Given the description of an element on the screen output the (x, y) to click on. 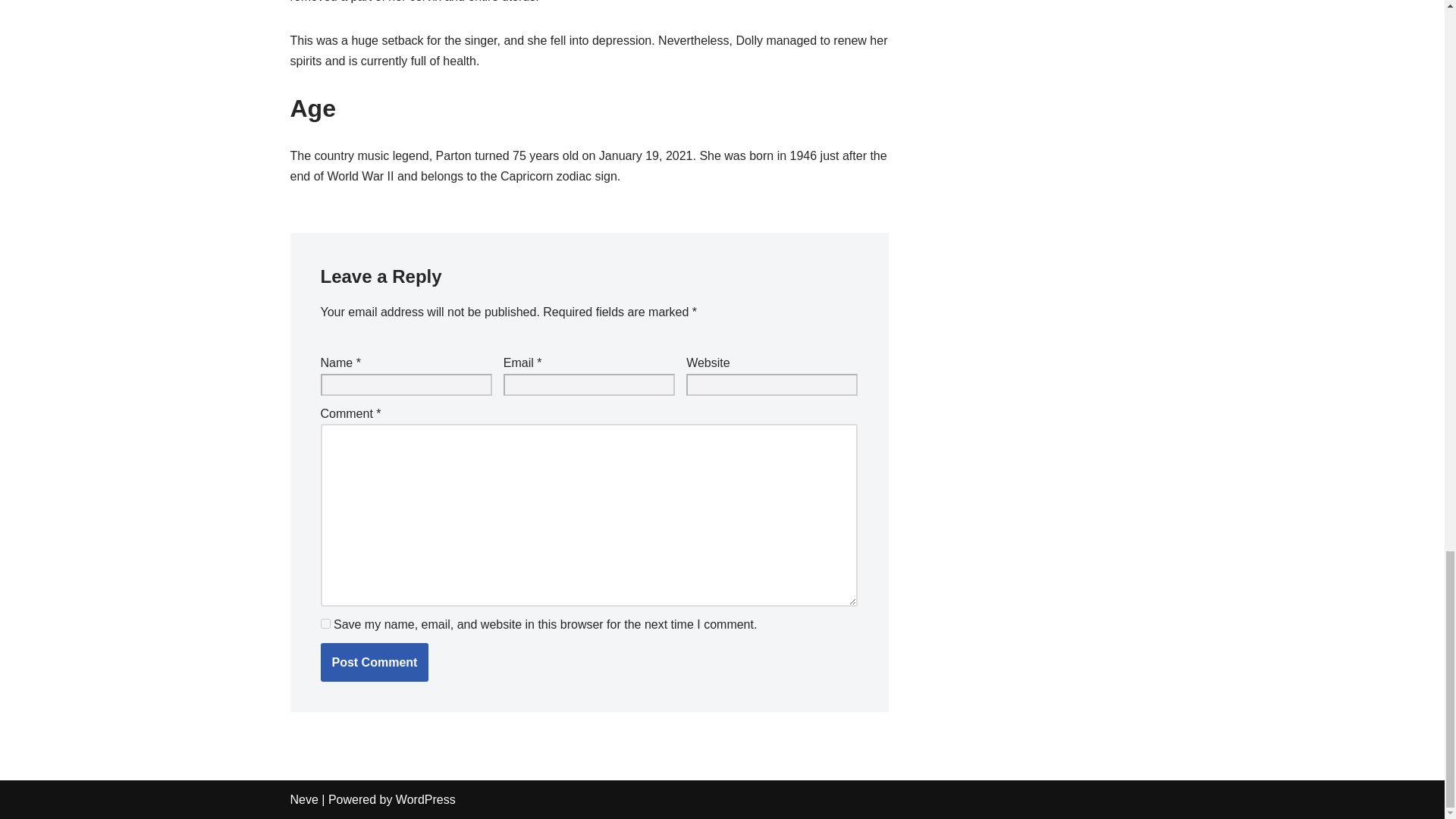
yes (325, 623)
Neve (303, 799)
WordPress (425, 799)
Post Comment (374, 662)
Post Comment (374, 662)
